Given the description of an element on the screen output the (x, y) to click on. 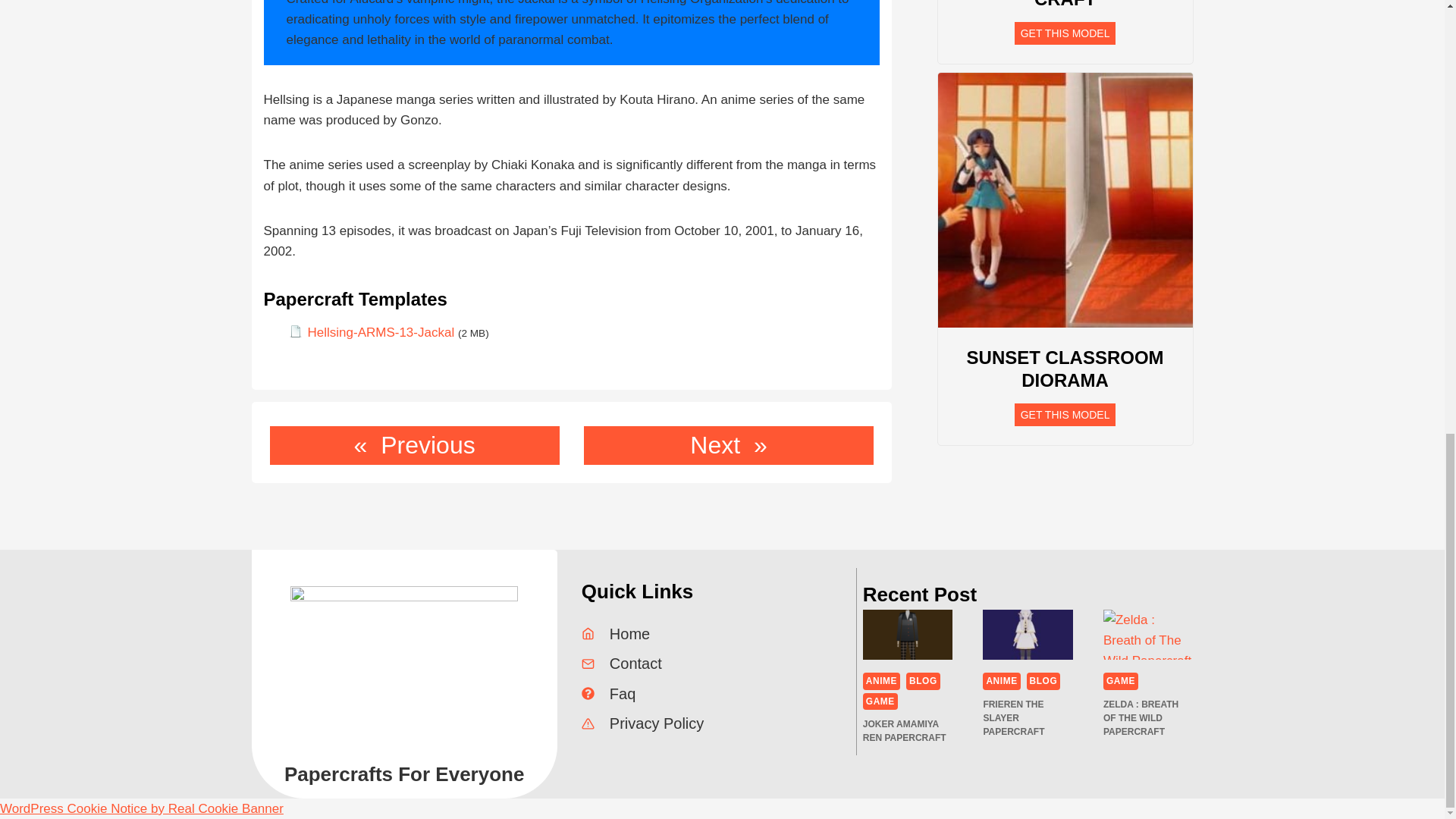
Zelda : Breath of The Wild Papercraft 5 (1148, 634)
Frieren The Slayer Papercraft 4 (1027, 634)
Sunset Classroom Diorama 2 (1064, 199)
Joker Amamiya Ren Papercraft 3 (908, 634)
